Given the description of an element on the screen output the (x, y) to click on. 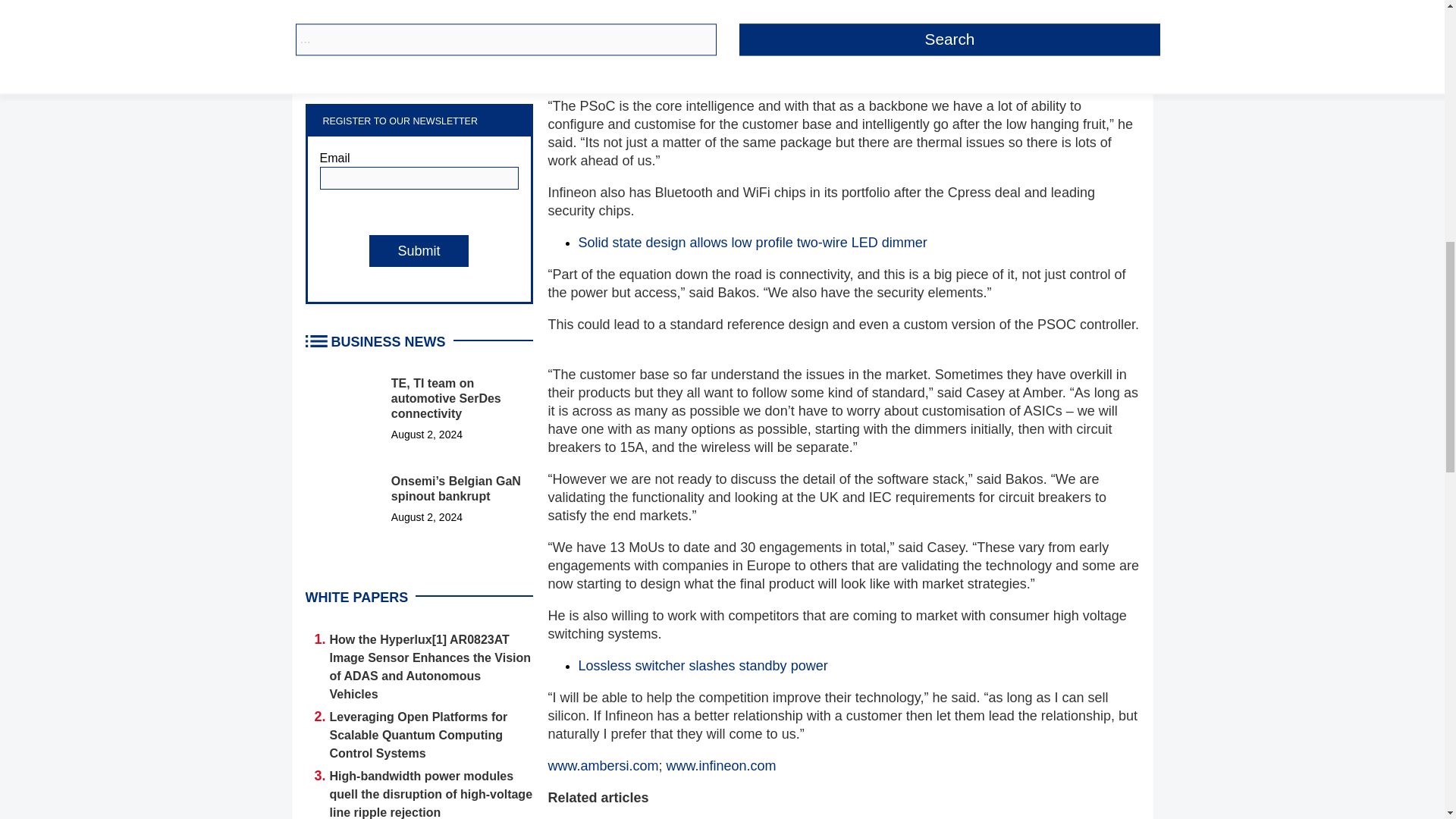
Submit (418, 250)
